Given the description of an element on the screen output the (x, y) to click on. 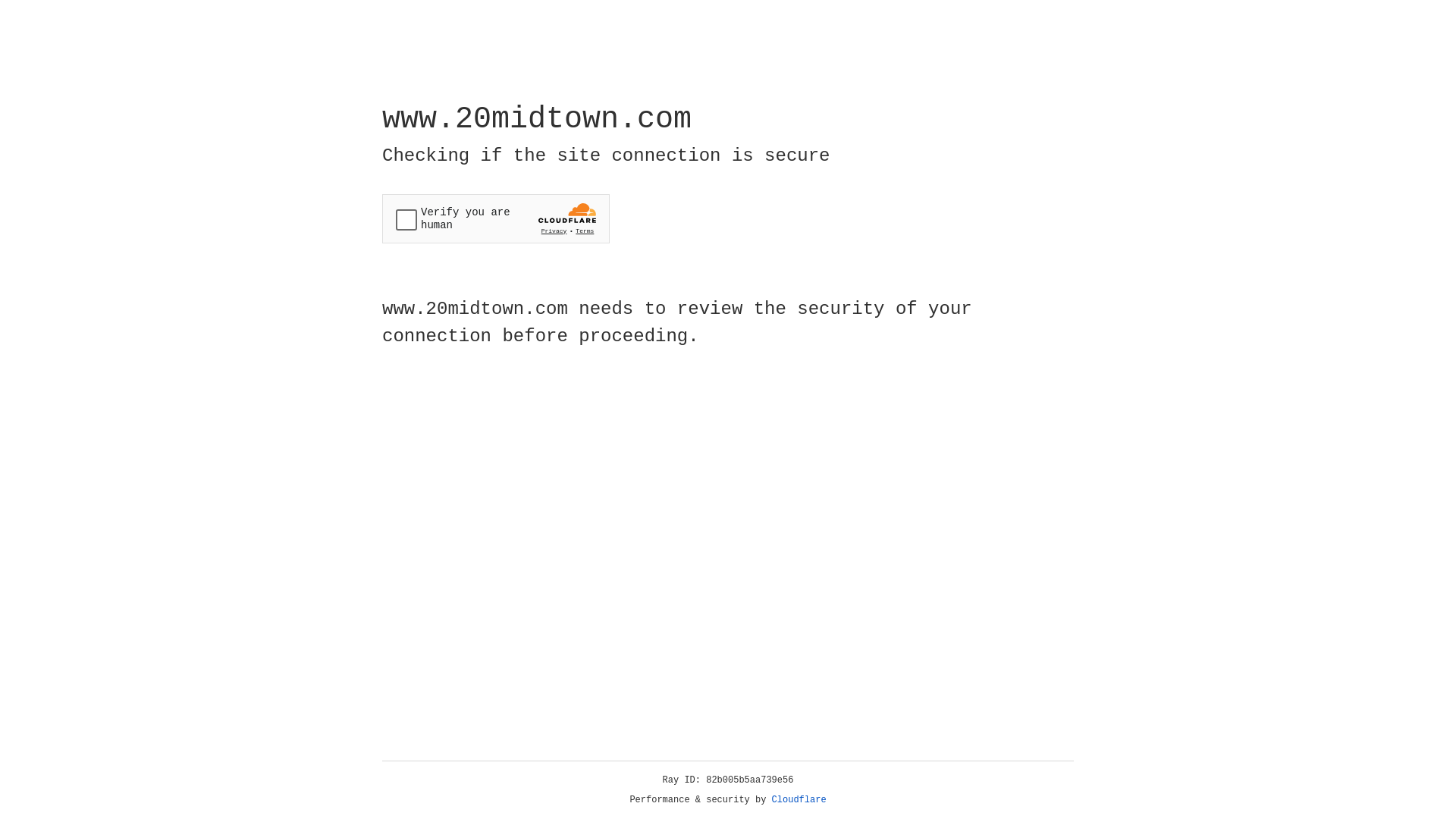
Cloudflare Element type: text (798, 799)
Widget containing a Cloudflare security challenge Element type: hover (495, 218)
